Given the description of an element on the screen output the (x, y) to click on. 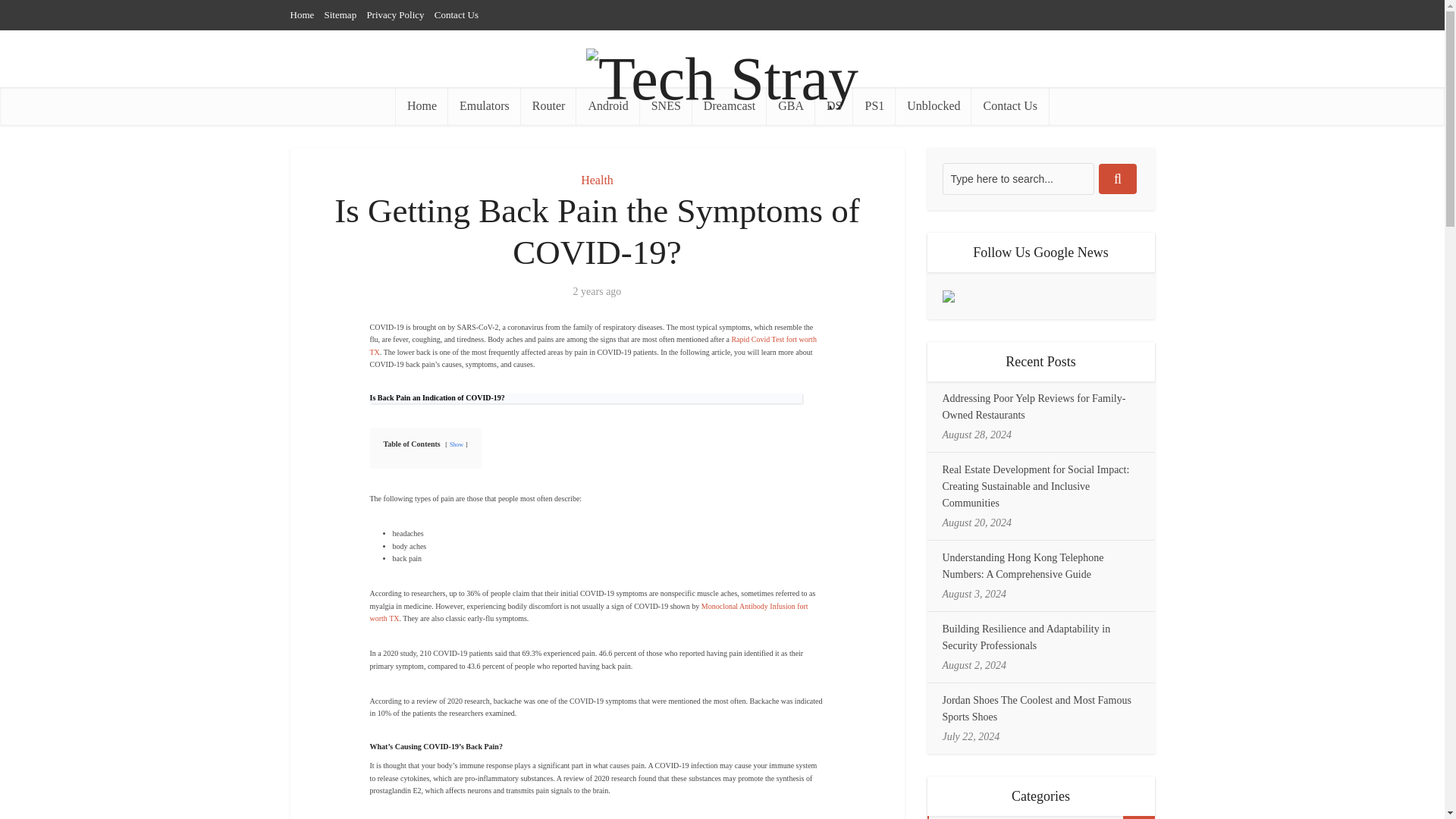
Monoclonal Antibody Infusion fort worth TX (588, 611)
Emulators (484, 105)
Contact Us (456, 14)
Dreamcast (730, 105)
Show (456, 444)
Sitemap (340, 14)
Contact Us (1009, 105)
PS1 (874, 105)
Type here to search... (1017, 178)
DS (834, 105)
